Given the description of an element on the screen output the (x, y) to click on. 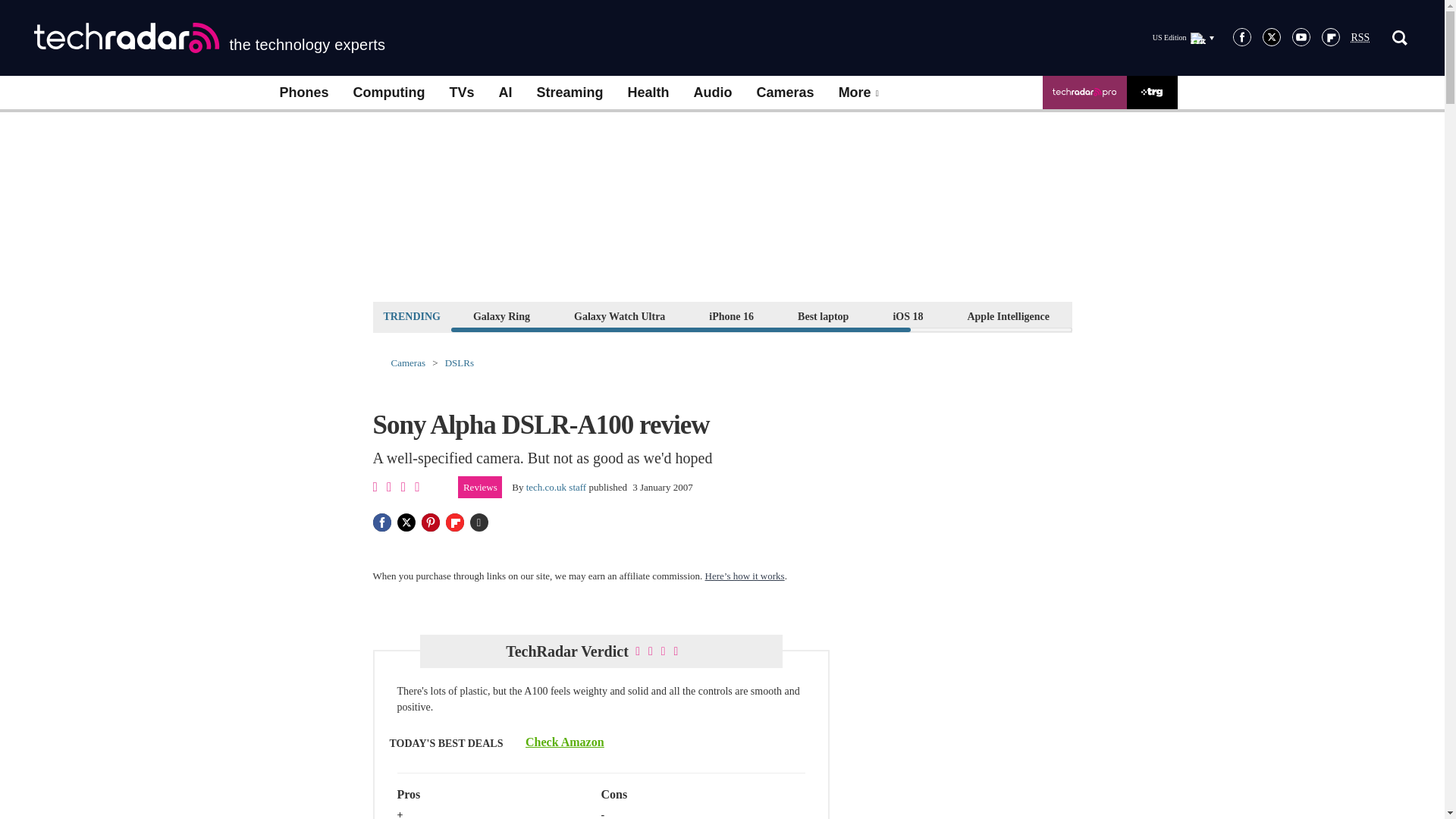
Health (648, 92)
Streaming (569, 92)
Audio (712, 92)
AI (505, 92)
Cameras (785, 92)
US Edition (1182, 37)
the technology experts (209, 38)
TVs (461, 92)
Computing (389, 92)
Phones (303, 92)
Really Simple Syndication (1360, 37)
